Given the description of an element on the screen output the (x, y) to click on. 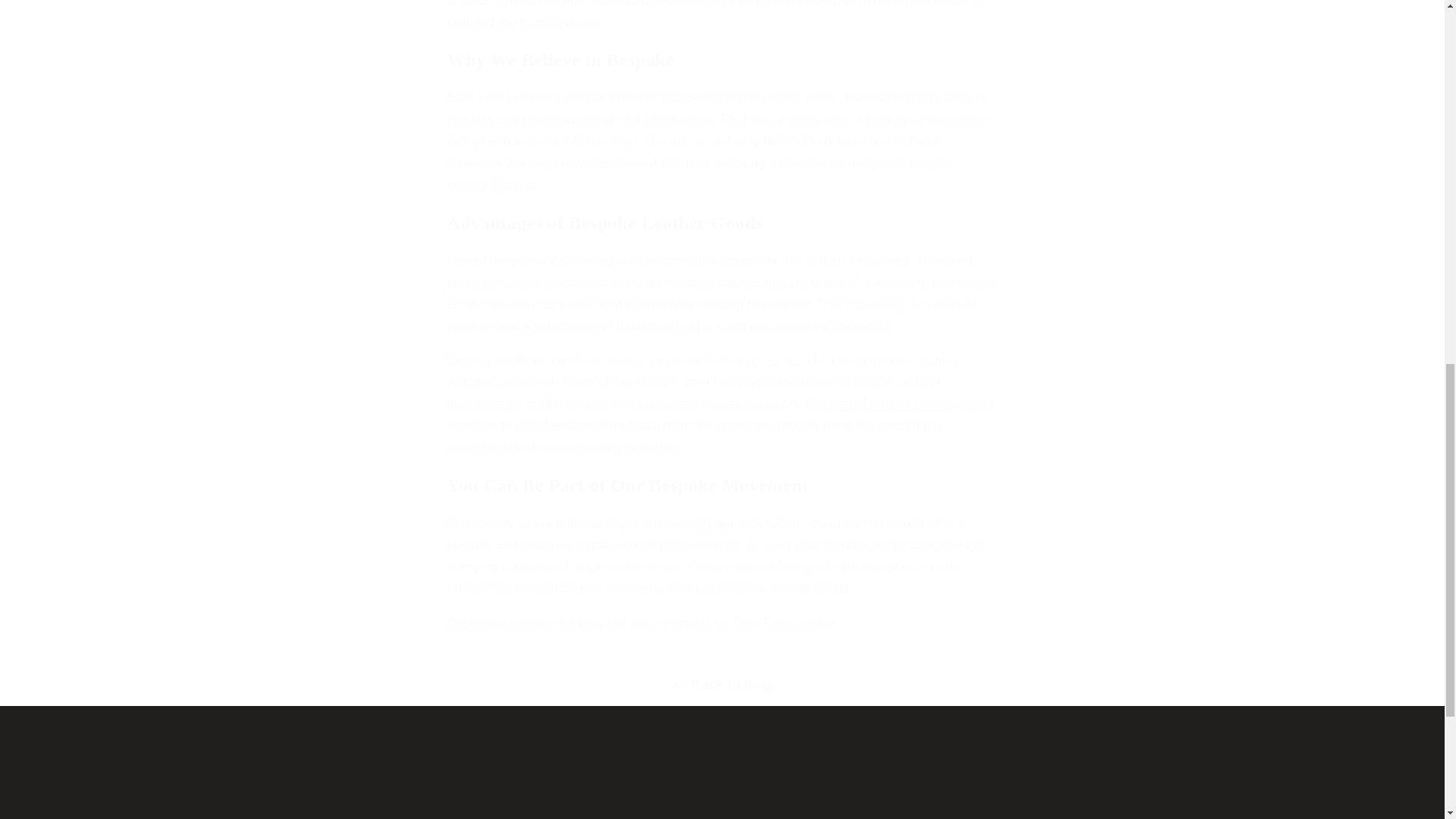
Search (670, 807)
Our use of top-tier materials (721, 778)
All products (887, 403)
About (734, 807)
Contact (795, 807)
Home page (721, 791)
About Stirn Fine Leather (844, 807)
holsters (607, 809)
